Given the description of an element on the screen output the (x, y) to click on. 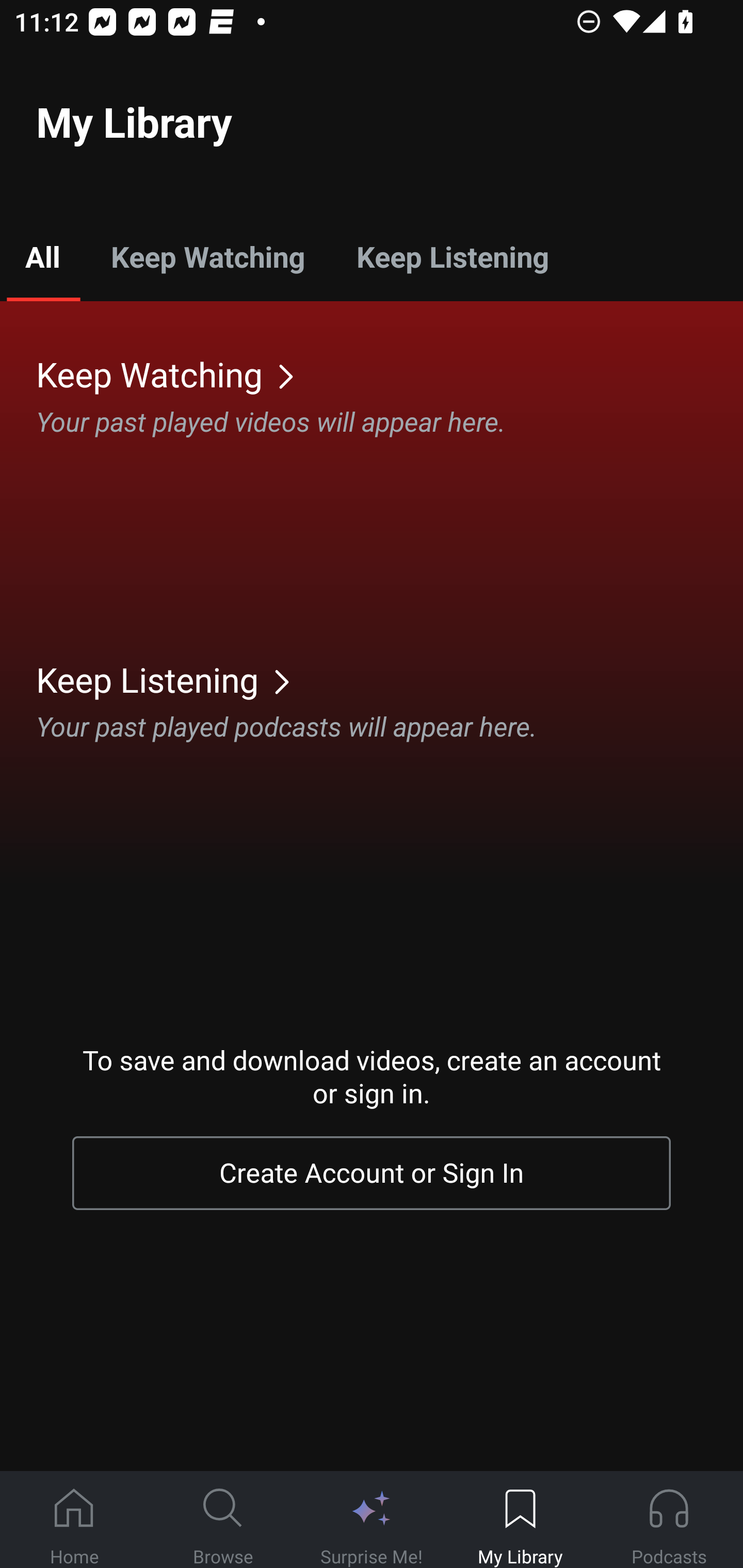
All (42, 256)
Keep Watching (207, 256)
Keep Listening (452, 256)
Keep Watching (389, 373)
Keep Listening (389, 679)
Create Account or Sign In (371, 1173)
Home (74, 1520)
Browse (222, 1520)
Surprise Me! (371, 1520)
My Library (519, 1520)
Podcasts (668, 1520)
